Given the description of an element on the screen output the (x, y) to click on. 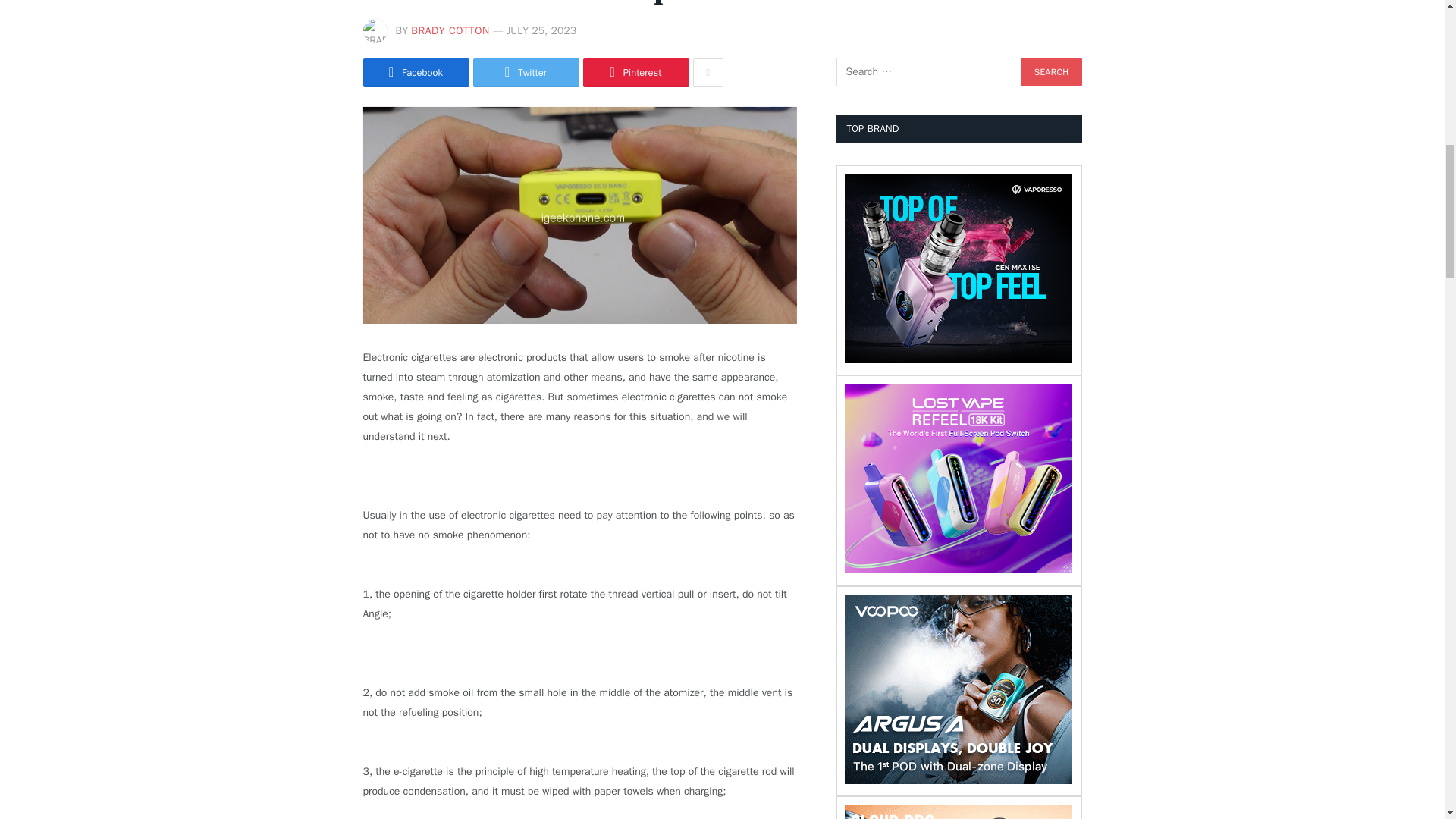
Show More Social Sharing (708, 72)
Posts by Brady Cotton (449, 30)
Share on Twitter (526, 72)
Share on Facebook (415, 72)
Search (1051, 71)
Search (1051, 71)
Share on Pinterest (635, 72)
